Given the description of an element on the screen output the (x, y) to click on. 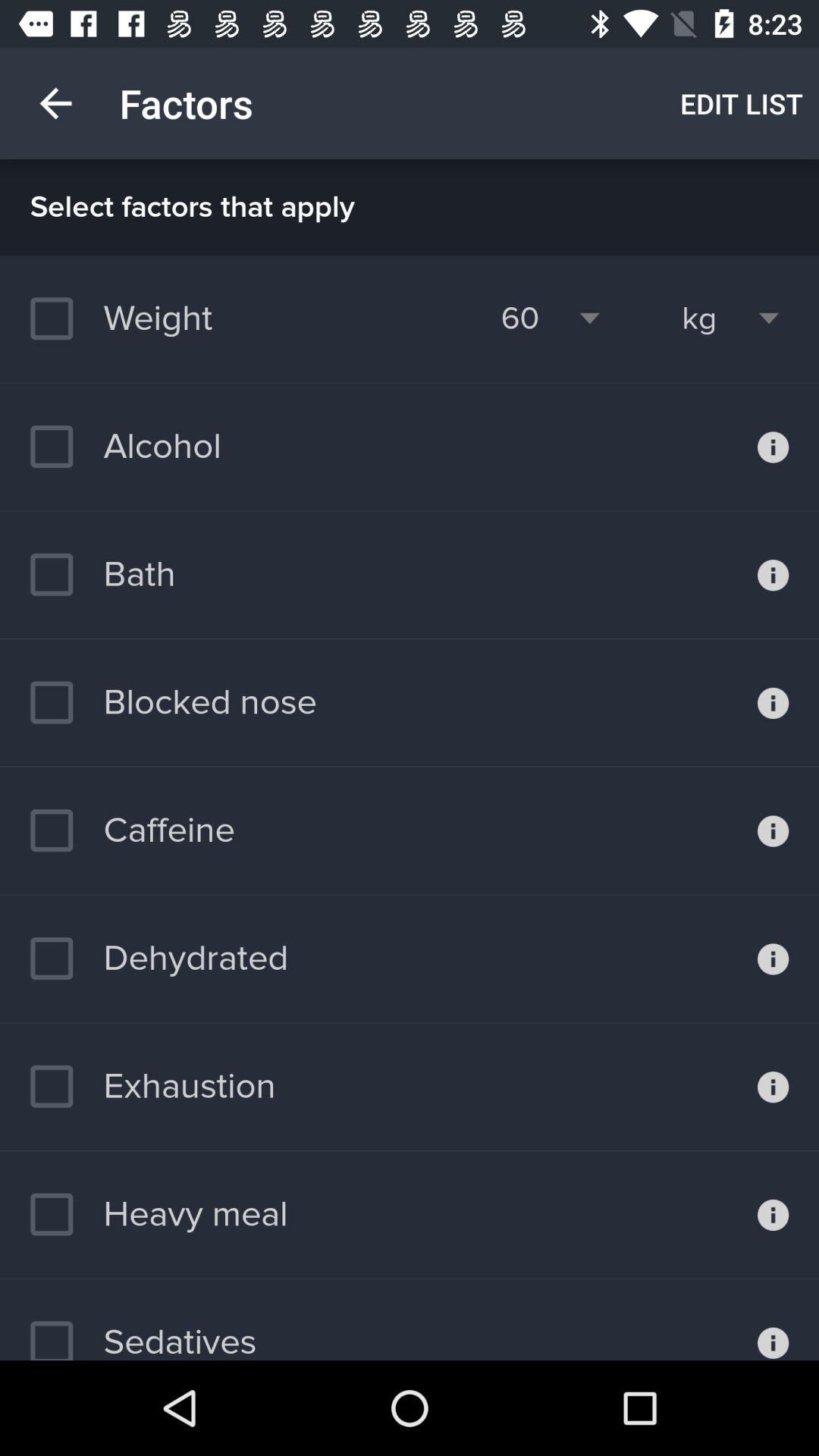
more info (773, 1086)
